Given the description of an element on the screen output the (x, y) to click on. 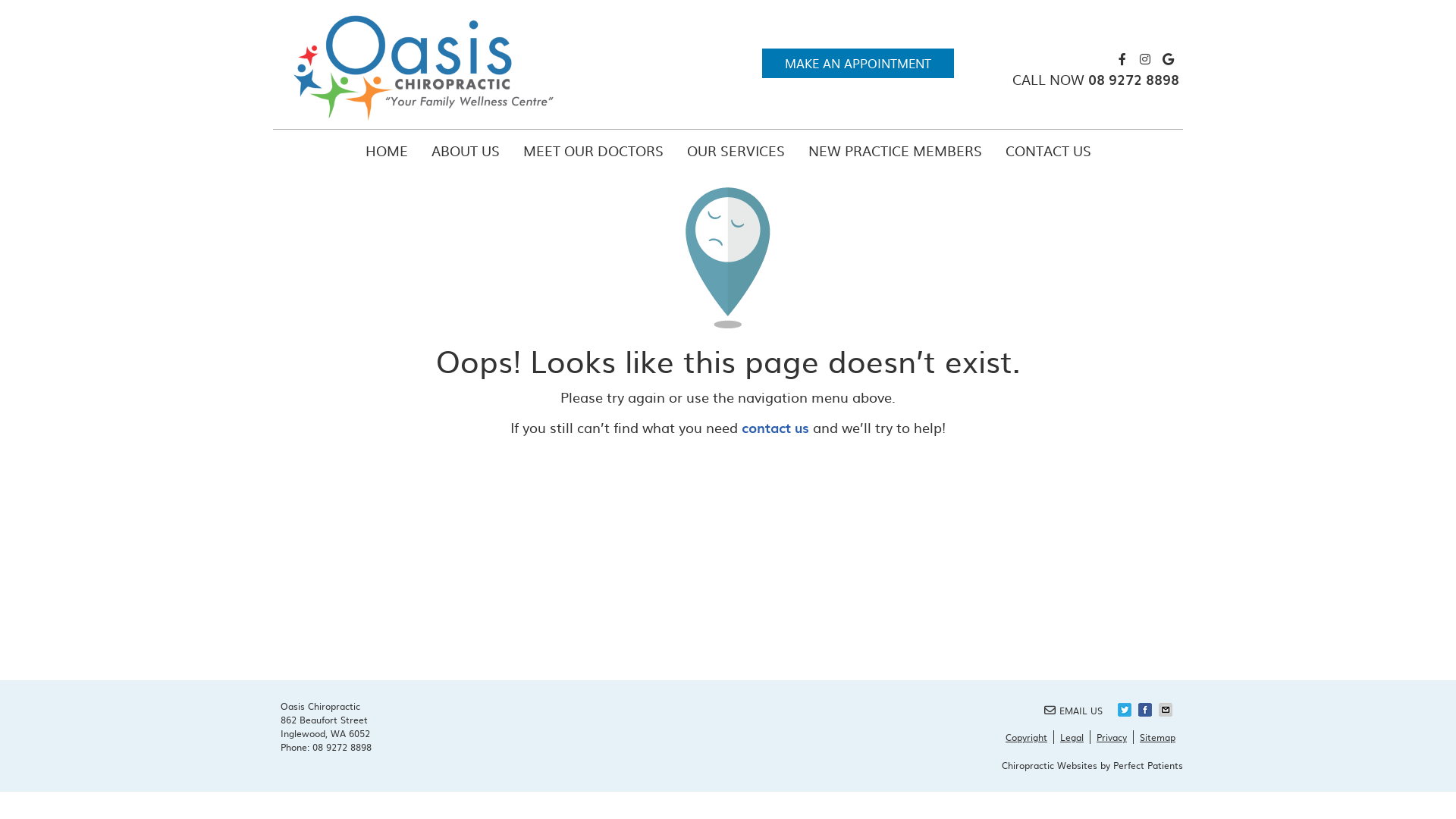
EMAIL US Element type: text (1073, 709)
Share on Twitter Element type: text (1125, 709)
contact us Element type: text (775, 427)
08 9272 8898 Element type: text (341, 746)
Sitemap Element type: text (1154, 736)
OUR SERVICES Element type: text (735, 150)
HOME Element type: text (386, 150)
Legal Element type: text (1072, 736)
Copyright Element type: text (1026, 736)
ABOUT US Element type: text (465, 150)
Share on Facebook Element type: text (1146, 709)
08 9272 8898 Element type: text (1133, 79)
CONTACT US Element type: text (1047, 150)
Instagram Social Button Element type: text (1144, 59)
MAKE AN APPOINTMENT Element type: text (857, 63)
Share via Email Element type: text (1166, 709)
Privacy Element type: text (1111, 736)
Google Social Button Element type: text (1167, 59)
Facebook Social Button Element type: text (1122, 59)
NEW PRACTICE MEMBERS Element type: text (894, 150)
Oasis Chiropractic Element type: text (424, 117)
MEET OUR DOCTORS Element type: text (592, 150)
